Given the description of an element on the screen output the (x, y) to click on. 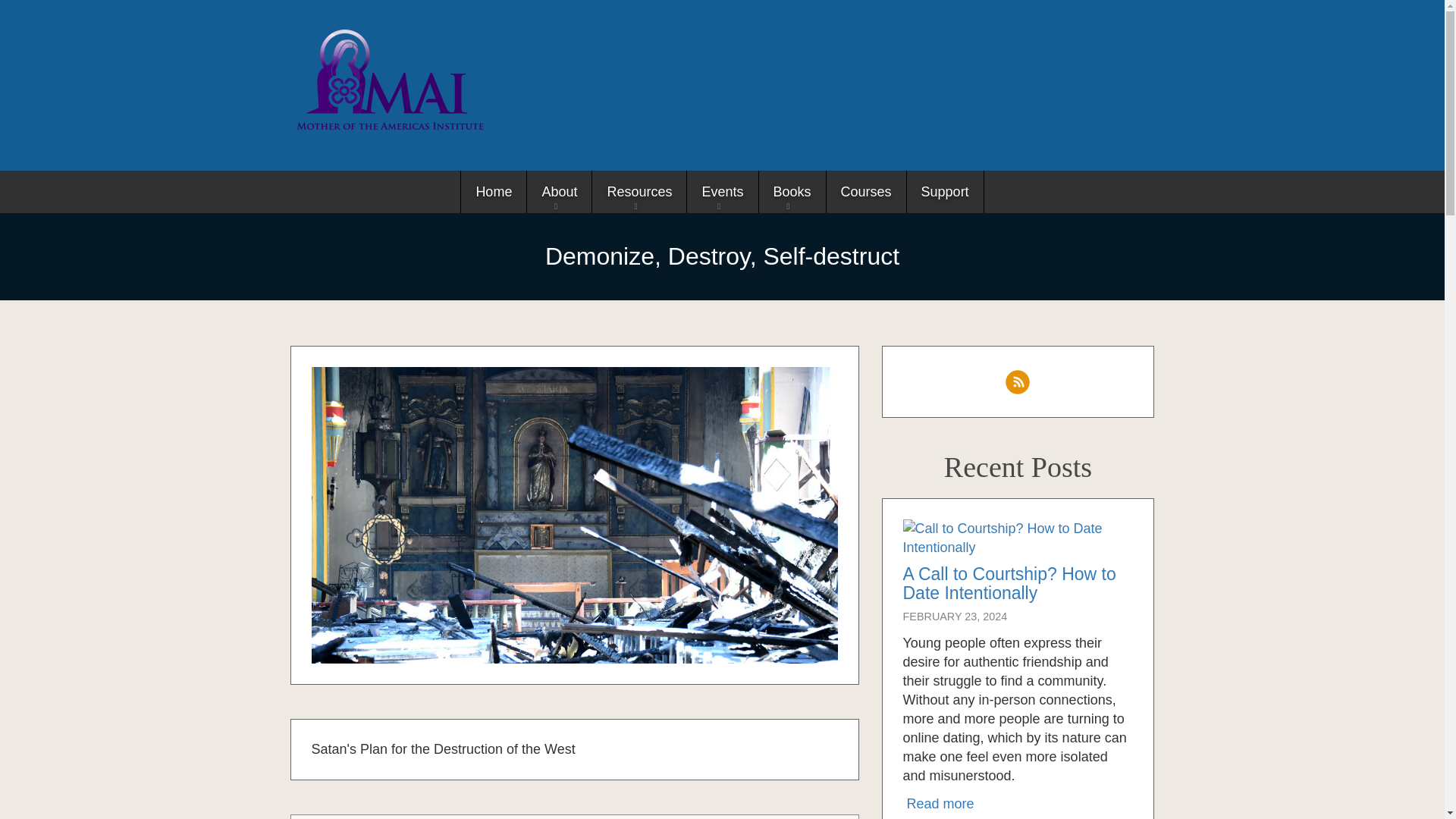
Courses (865, 191)
Support (944, 191)
Events (721, 191)
About (558, 191)
RSS (1017, 381)
Home (492, 191)
Books (791, 191)
Resources (638, 191)
